Given the description of an element on the screen output the (x, y) to click on. 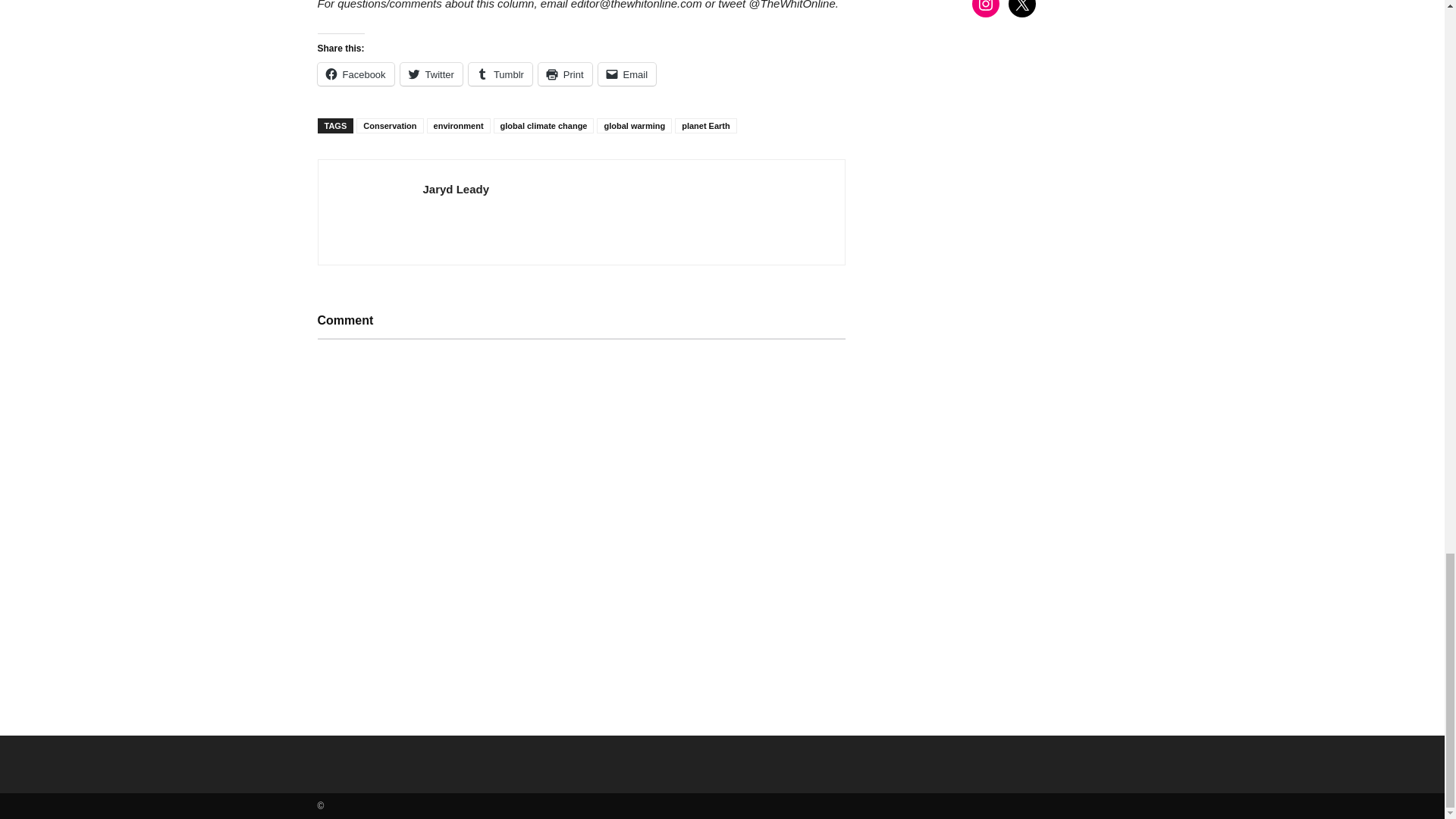
Click to share on Tumblr (500, 74)
Click to share on Facebook (355, 74)
Click to share on Twitter (431, 74)
